Given the description of an element on the screen output the (x, y) to click on. 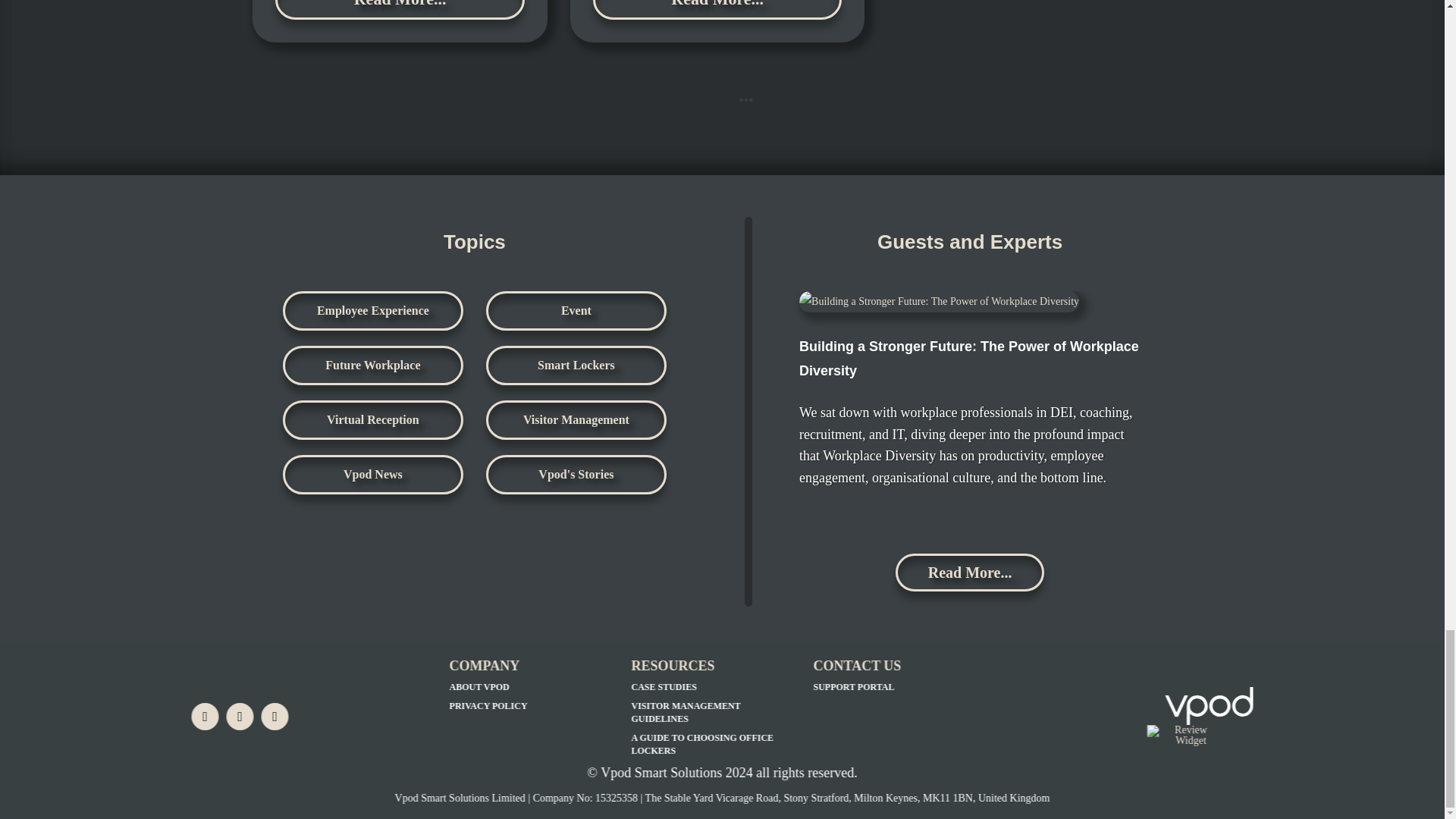
Follow on X (239, 716)
Google Review Widget (1185, 735)
Follow on LinkedIn (204, 716)
vpod-logo-white (1209, 705)
Follow on Youtube (274, 716)
